Given the description of an element on the screen output the (x, y) to click on. 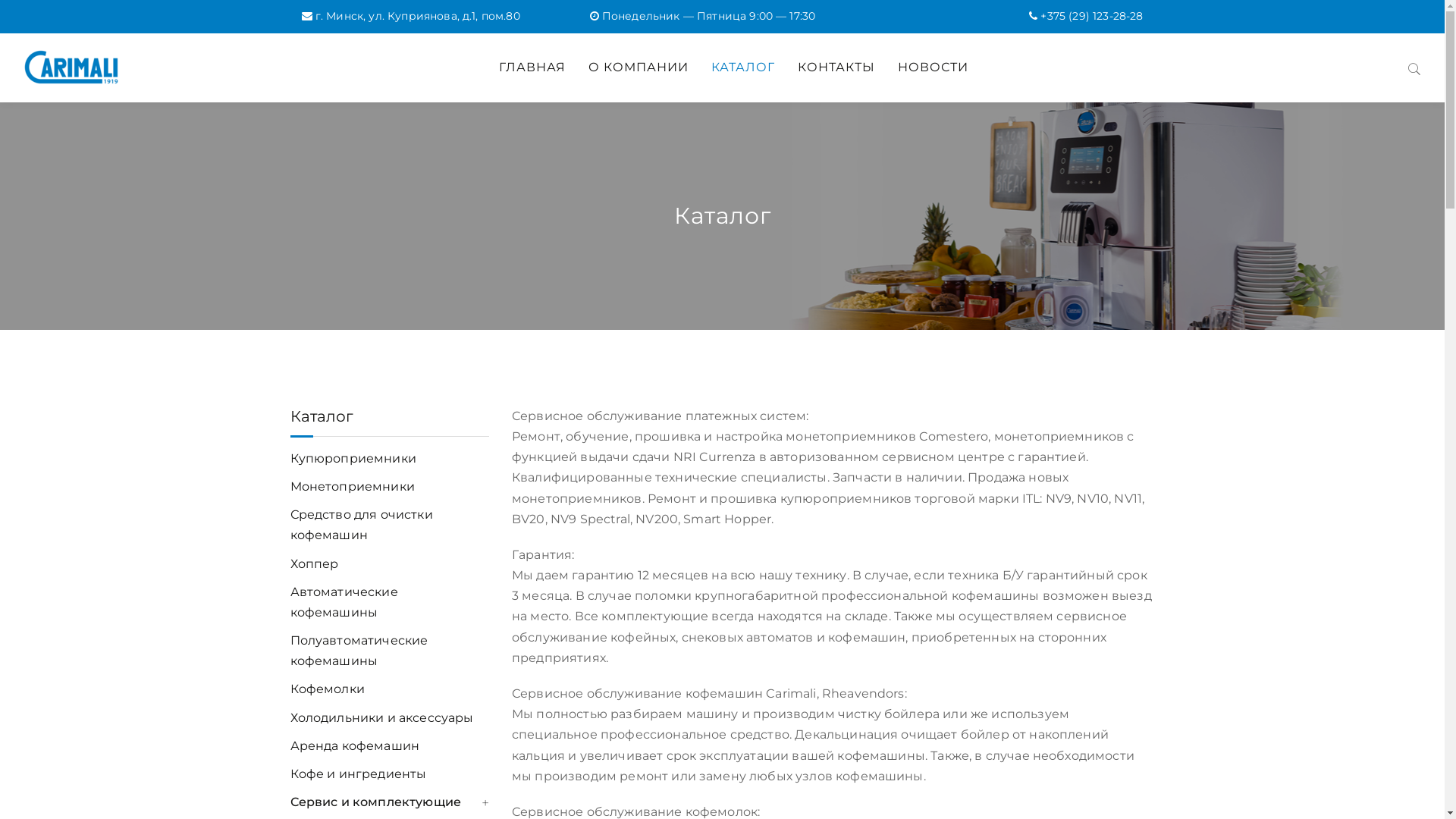
+375 (29) 123-28-28 Element type: text (1091, 15)
